Given the description of an element on the screen output the (x, y) to click on. 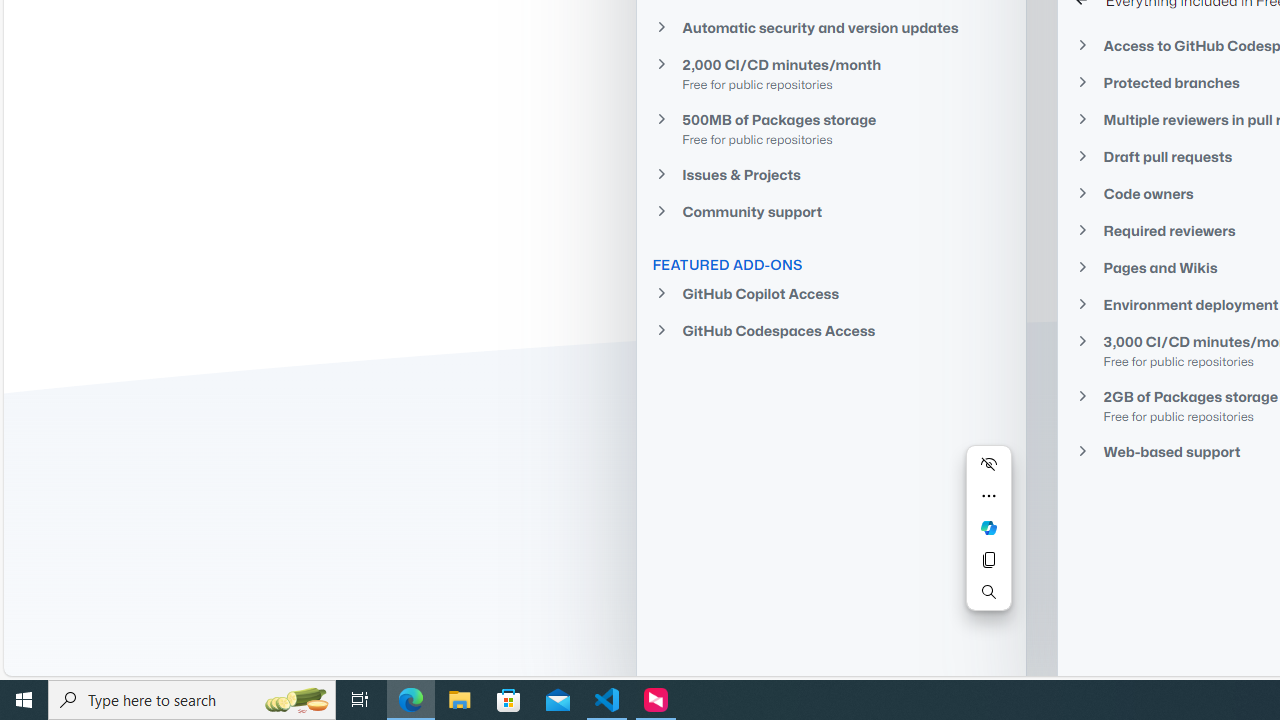
Automatic security and version updates (830, 26)
GitHub Codespaces Access (830, 330)
GitHub Codespaces Access (830, 330)
Community support (830, 211)
GitHub Copilot Access (830, 293)
Issues & Projects (830, 174)
Mini menu on text selection (988, 539)
Ask Copilot (988, 527)
2,000 CI/CD minutes/monthFree for public repositories (830, 73)
Hide menu (988, 463)
Automatic security and version updates (830, 27)
More actions (988, 495)
2,000 CI/CD minutes/month Free for public repositories (830, 74)
500MB of Packages storage Free for public repositories (830, 128)
Copy (988, 560)
